Given the description of an element on the screen output the (x, y) to click on. 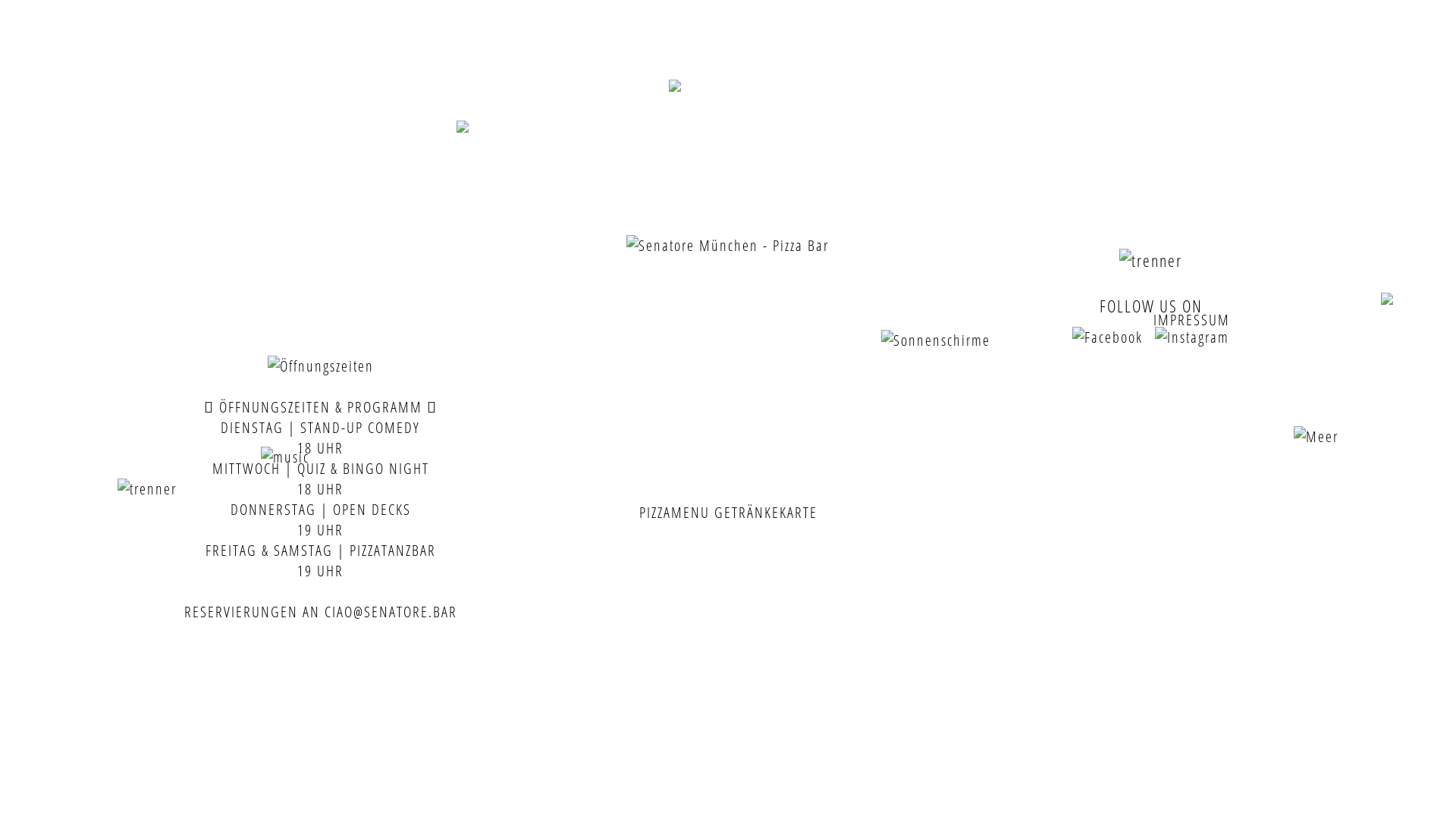
PIZZAMENU Element type: text (673, 512)
CIAO@SENATORE.BAR Element type: text (698, 171)
IMPRESSUM Element type: text (1191, 319)
